Given the description of an element on the screen output the (x, y) to click on. 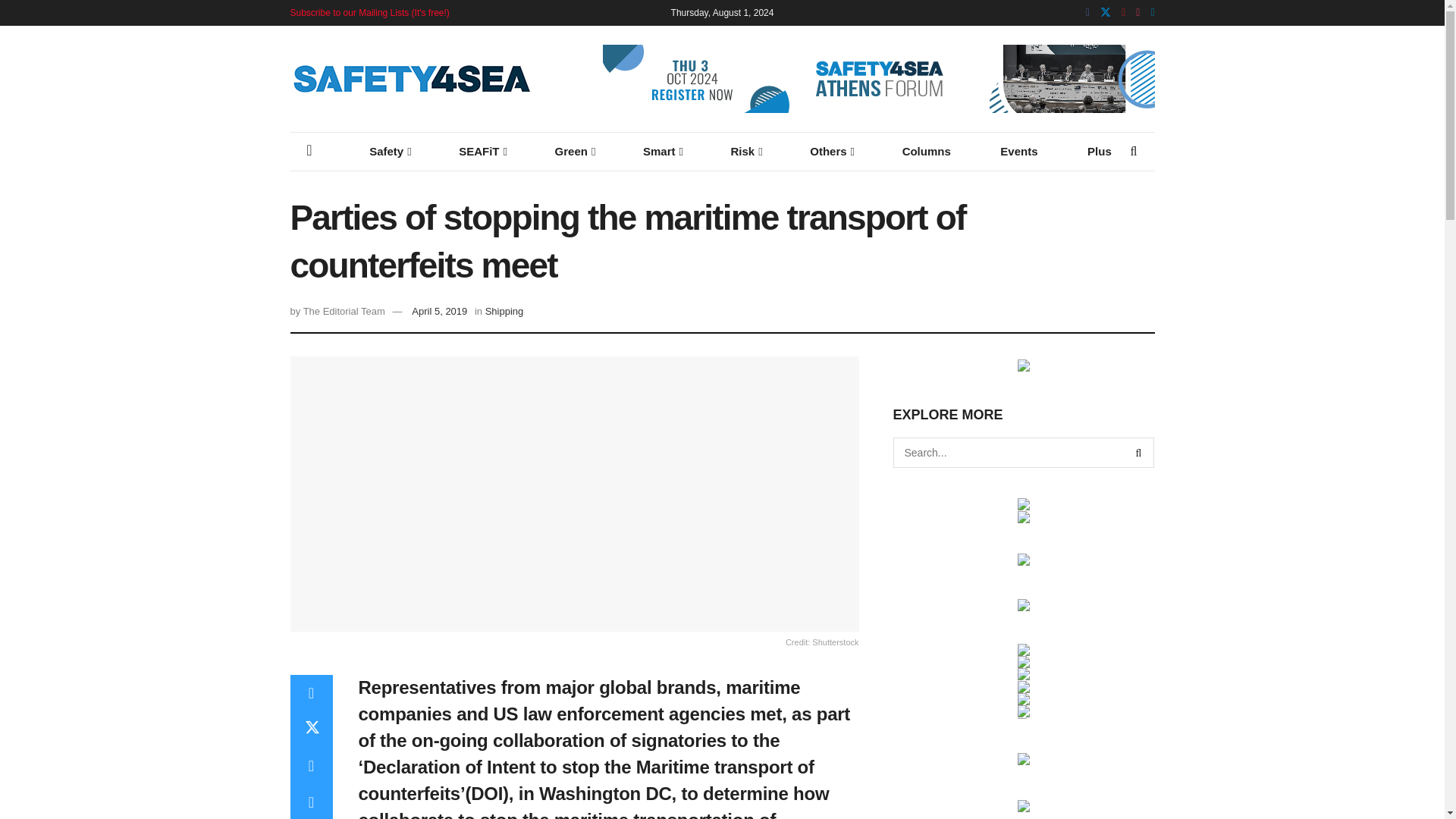
Safety (388, 151)
SEAFiT (481, 151)
